Given the description of an element on the screen output the (x, y) to click on. 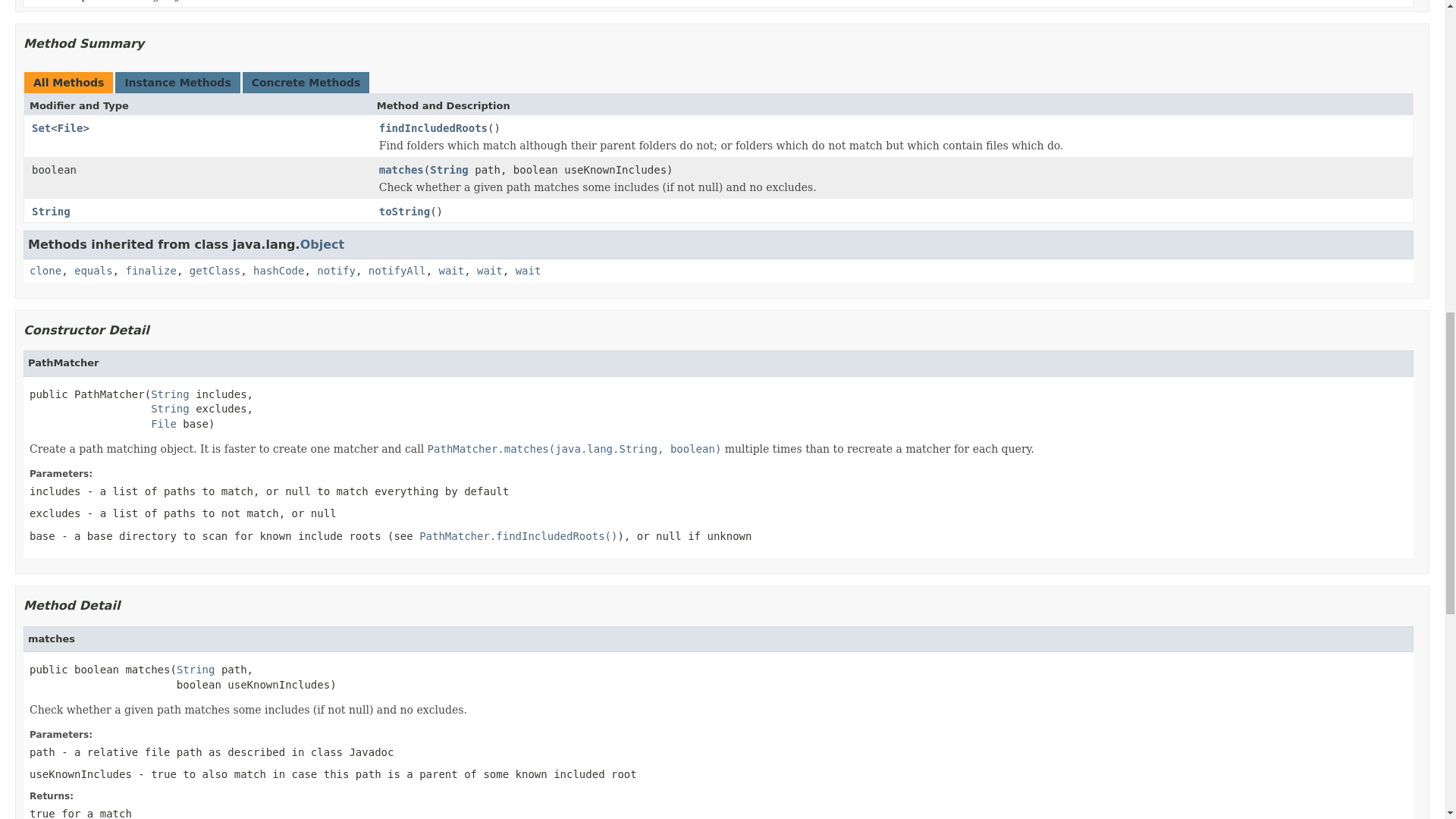
class or interface in java.lang (214, 270)
Instance Methods (176, 82)
class or interface in java.lang (50, 211)
File (70, 128)
class or interface in java.lang (322, 244)
String (50, 211)
class or interface in java.lang (45, 270)
class or interface in java.lang (150, 270)
Set (41, 128)
Concrete Methods (306, 82)
findIncludedRoots (432, 129)
class or interface in java.io (70, 128)
toString (403, 212)
class or interface in java.lang (93, 270)
class or interface in java.lang (448, 170)
